Given the description of an element on the screen output the (x, y) to click on. 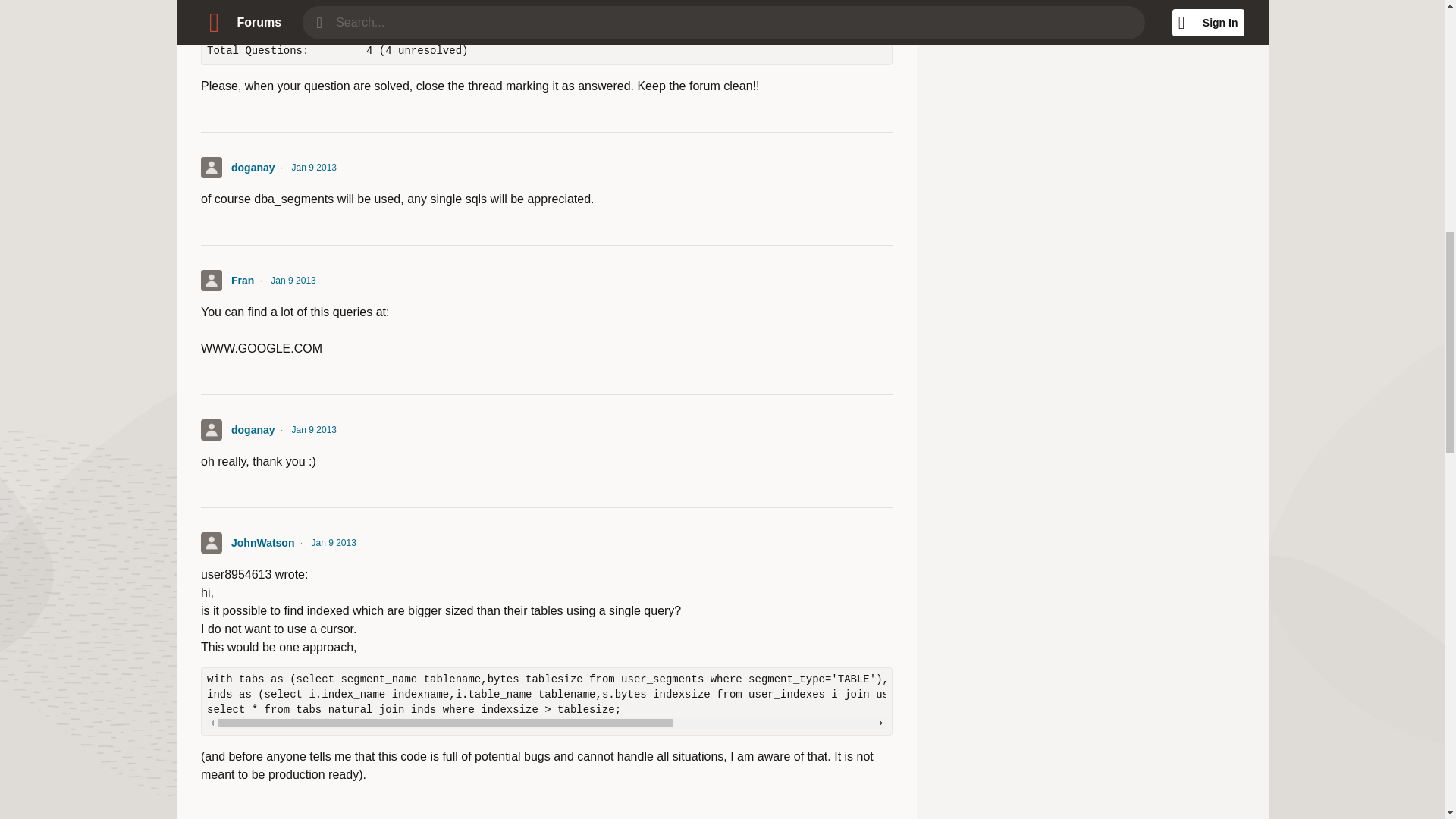
9 Jan 2013 04:26 am (332, 542)
doganay's Profile Page (210, 167)
Fran's Profile Page (210, 280)
9 Jan 2013 04:12 am (293, 280)
doganay (252, 167)
doganay (252, 429)
Fran (241, 280)
9 Jan 2013 04:14 am (313, 429)
9 Jan 2013 04:11 am (313, 167)
JohnWatson (262, 542)
